Given the description of an element on the screen output the (x, y) to click on. 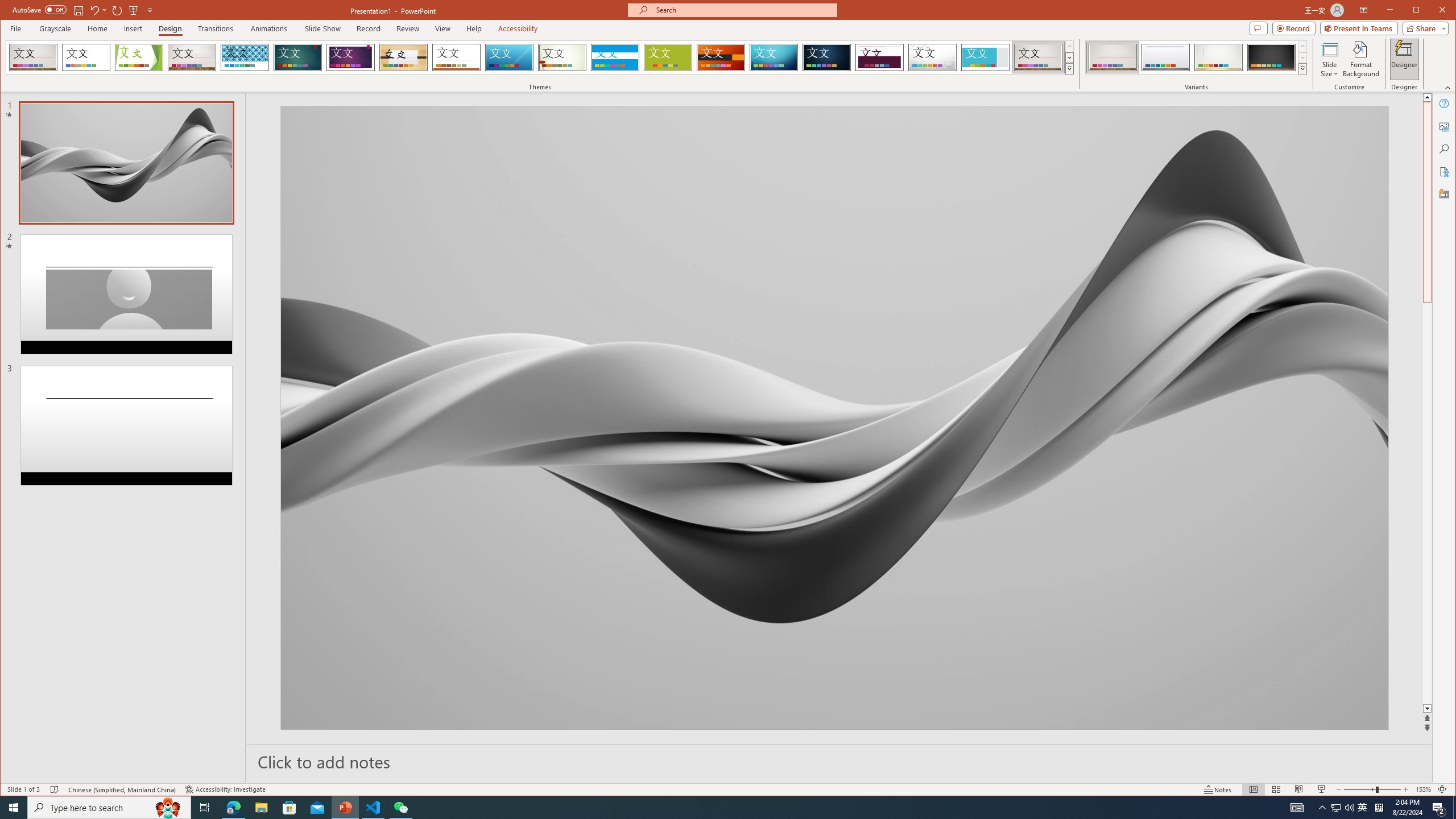
Gallery Variant 2 (1165, 57)
Ion (297, 57)
Gallery Variant 3 (1218, 57)
Circuit (773, 57)
